Given the description of an element on the screen output the (x, y) to click on. 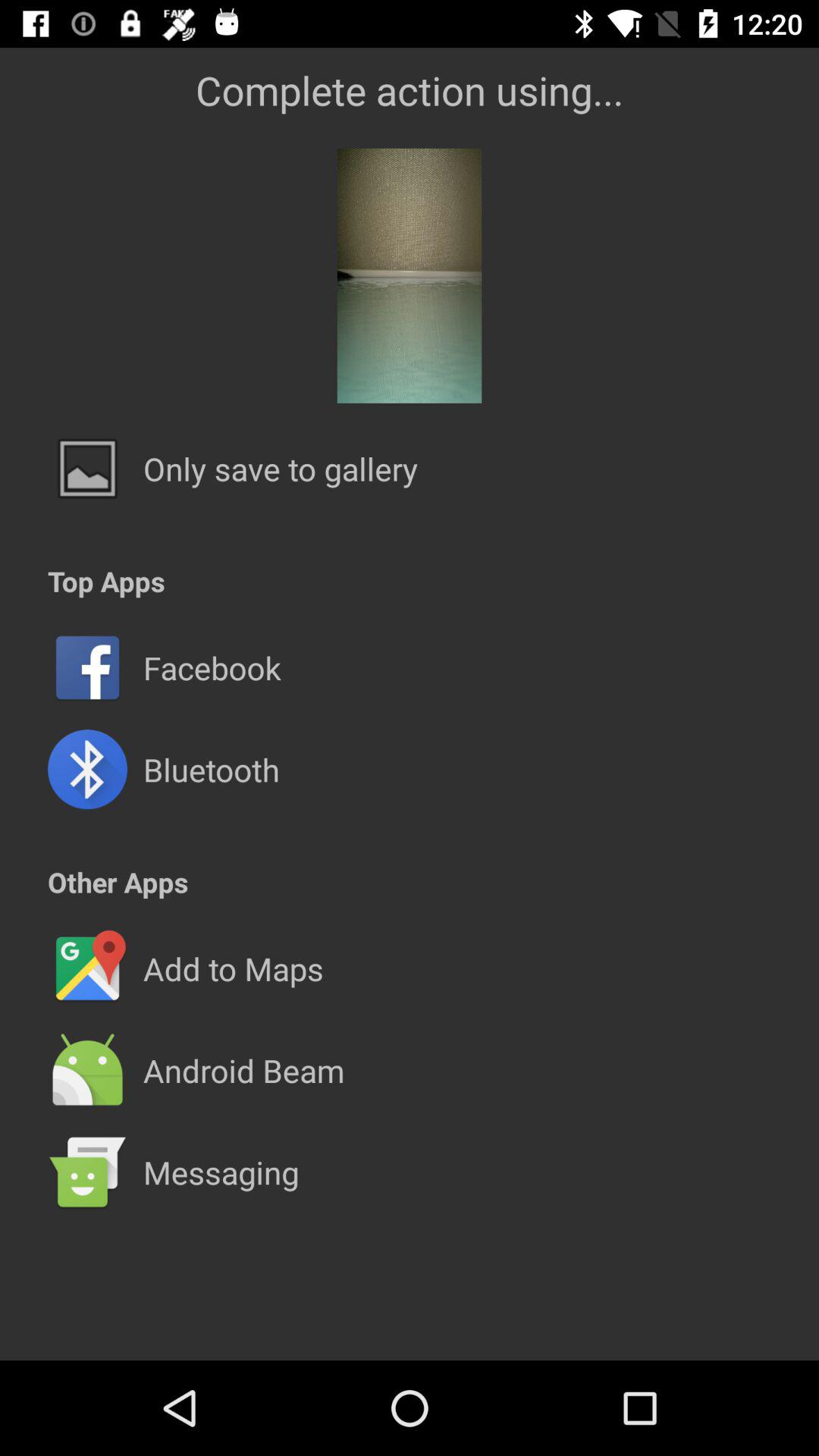
launch bluetooth icon (211, 769)
